Given the description of an element on the screen output the (x, y) to click on. 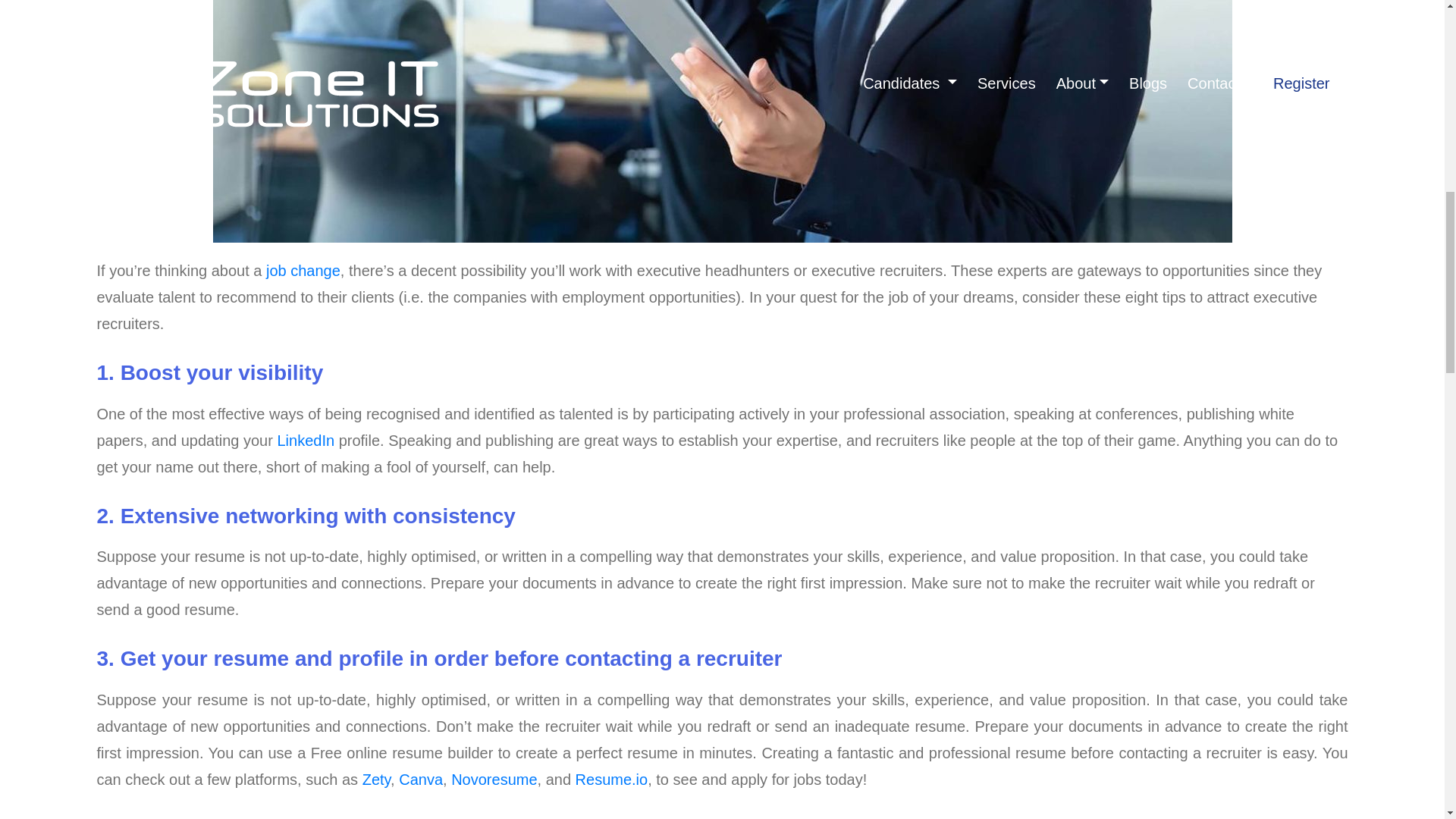
Zety (376, 779)
Novoresume (494, 779)
Canva (420, 779)
Resume.io (611, 779)
LinkedIn (305, 440)
job change (303, 270)
